Given the description of an element on the screen output the (x, y) to click on. 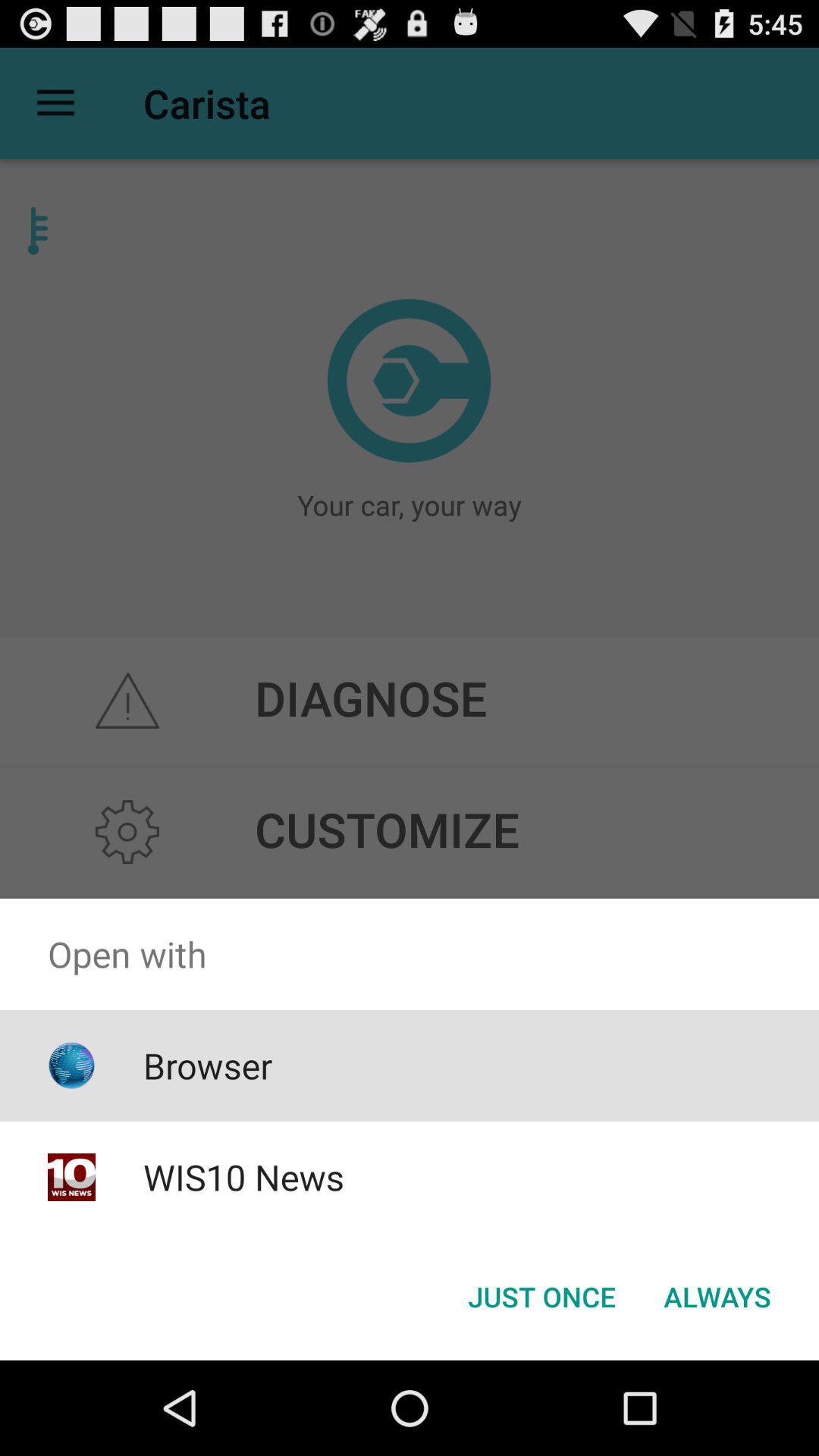
flip to browser item (207, 1065)
